Given the description of an element on the screen output the (x, y) to click on. 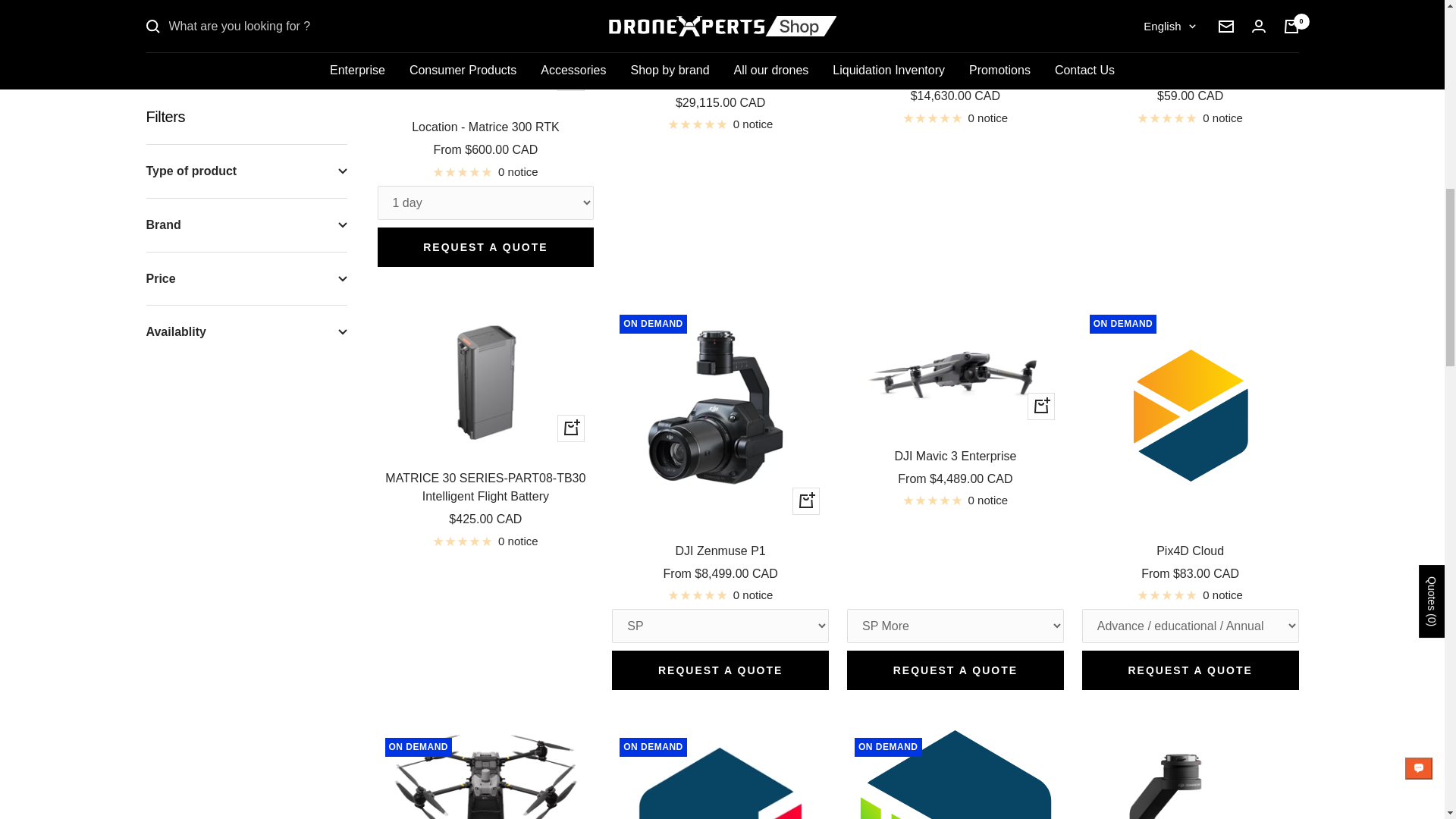
Quick overview (571, 76)
Availablity (245, 68)
Price (245, 20)
